Given the description of an element on the screen output the (x, y) to click on. 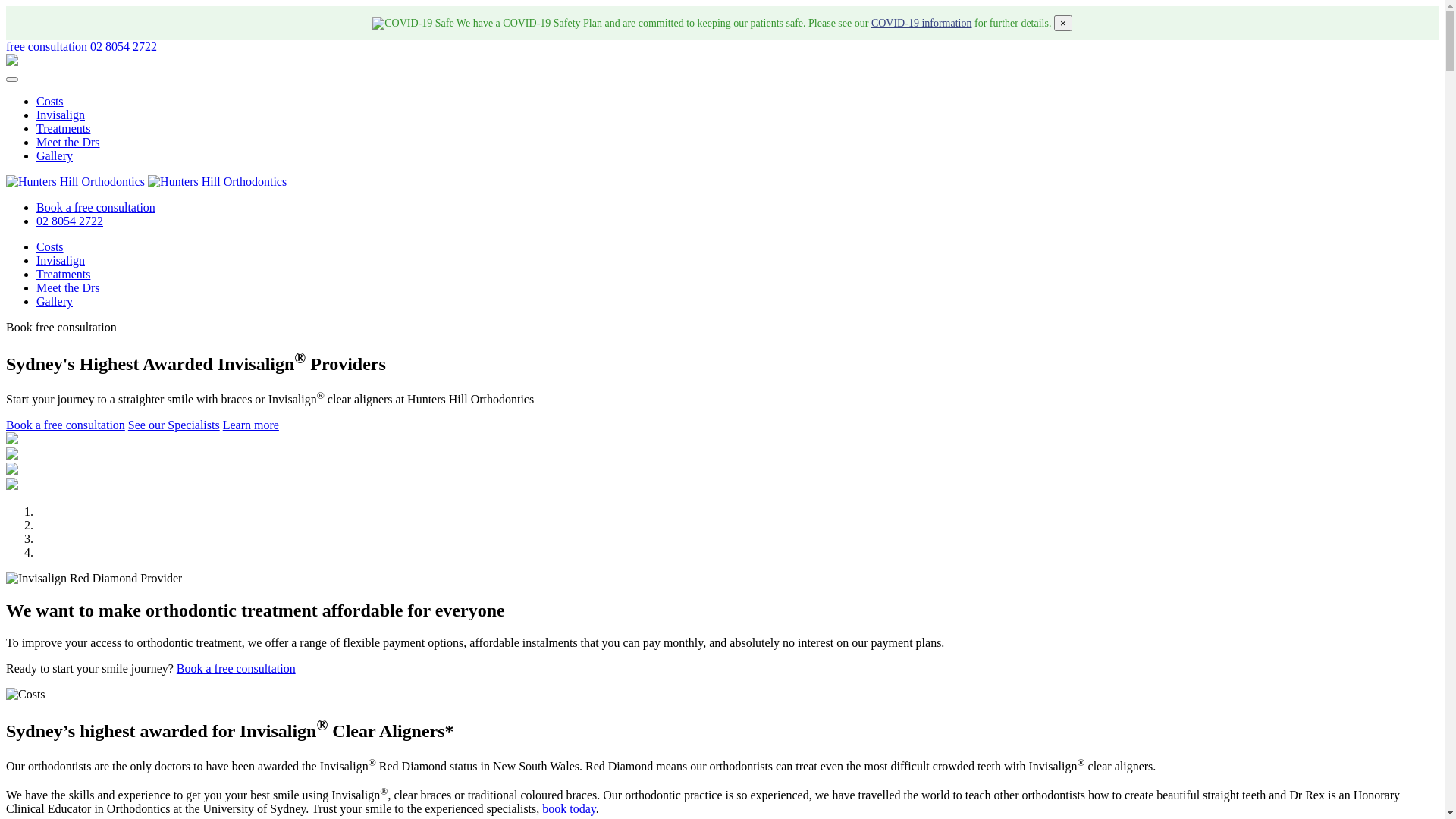
book today Element type: text (569, 808)
02 8054 2722 Element type: text (123, 46)
Book a free consultation Element type: text (95, 206)
Costs Element type: text (49, 100)
Treatments Element type: text (63, 273)
Invisalign Element type: text (60, 260)
Learn more Element type: text (250, 424)
COVID-19 information Element type: text (921, 22)
02 8054 2722 Element type: text (69, 220)
Invisalign Red Diamond Provider Element type: hover (94, 578)
Gallery Element type: text (54, 300)
Meet the Drs Element type: text (68, 141)
Meet the Drs Element type: text (68, 287)
Invisalign Element type: text (60, 114)
Book a free consultation Element type: text (235, 668)
Book free consultation Element type: text (61, 326)
free consultation Element type: text (46, 46)
Treatments Element type: text (63, 128)
Book a free consultation Element type: text (65, 424)
Gallery Element type: text (54, 155)
See our Specialists Element type: text (173, 424)
Costs Element type: text (49, 246)
COVID-19 Safe Element type: hover (412, 23)
